Given the description of an element on the screen output the (x, y) to click on. 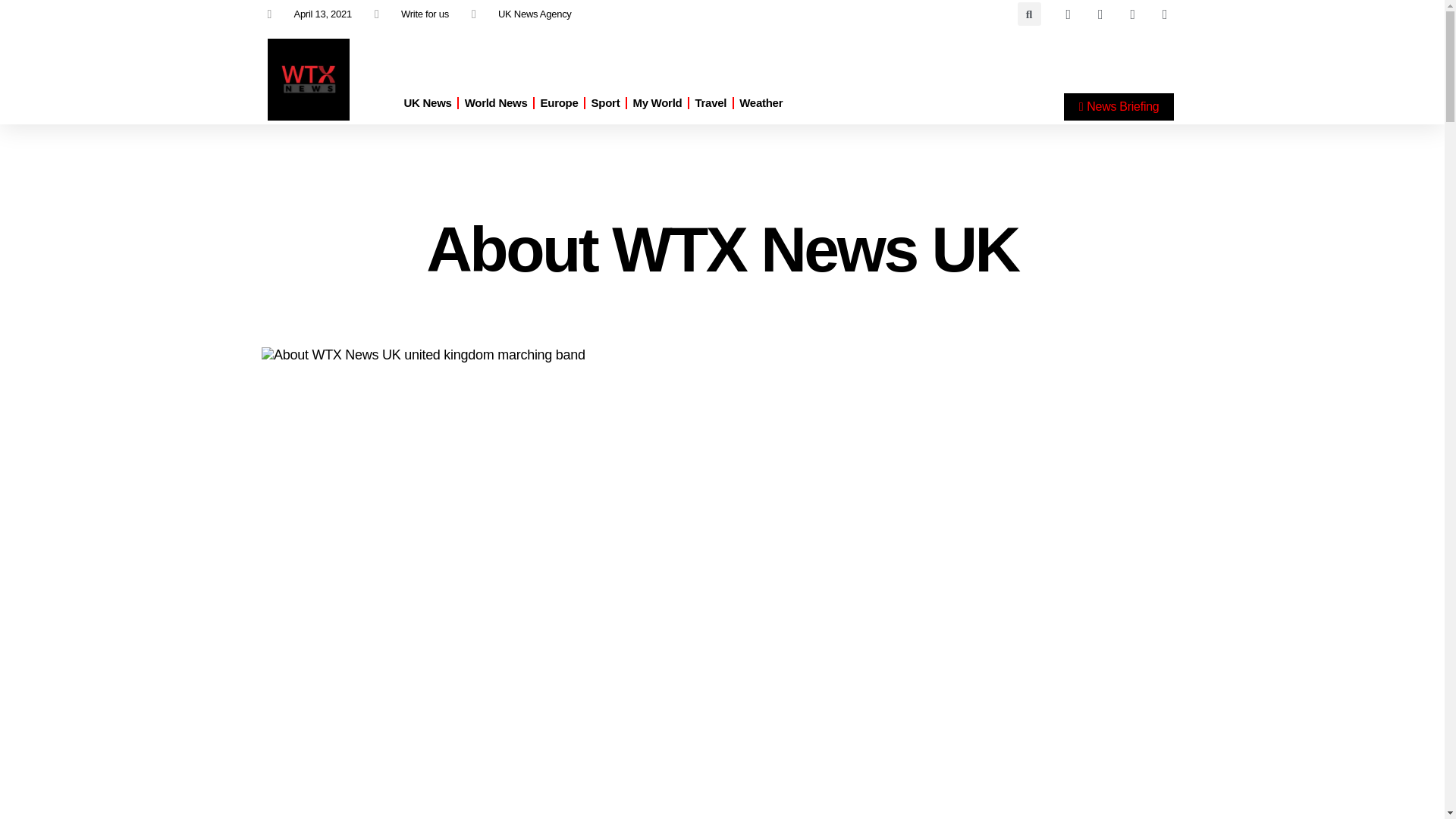
Write for us (411, 14)
World News (495, 102)
Travel (710, 102)
UK News (427, 102)
Weather (761, 102)
UK News Agency (521, 14)
Europe (559, 102)
My World (656, 102)
News Briefing (1119, 106)
